Given the description of an element on the screen output the (x, y) to click on. 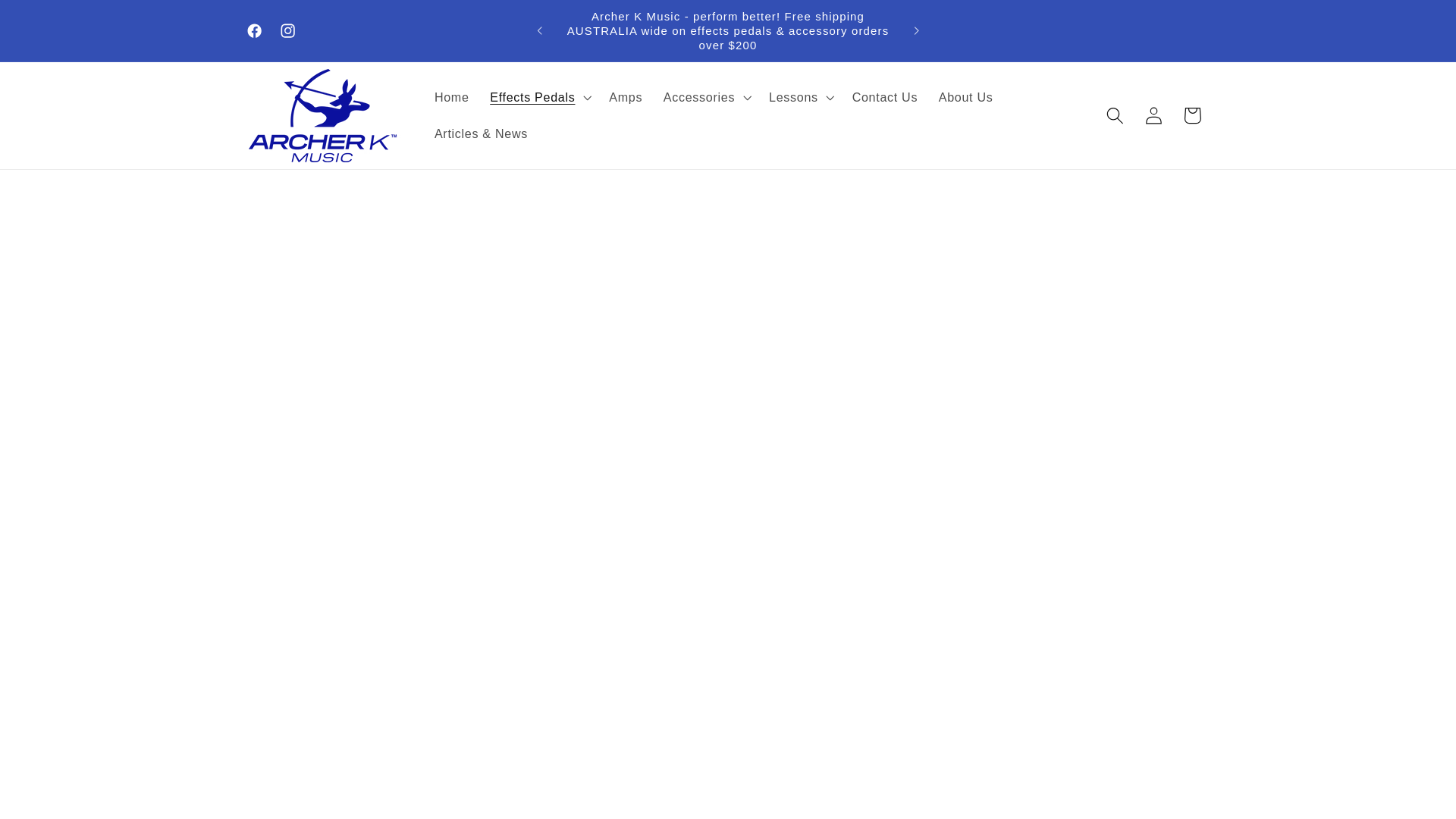
Home (451, 97)
Facebook (254, 30)
Skip to content (52, 20)
Instagram (287, 30)
